Given the description of an element on the screen output the (x, y) to click on. 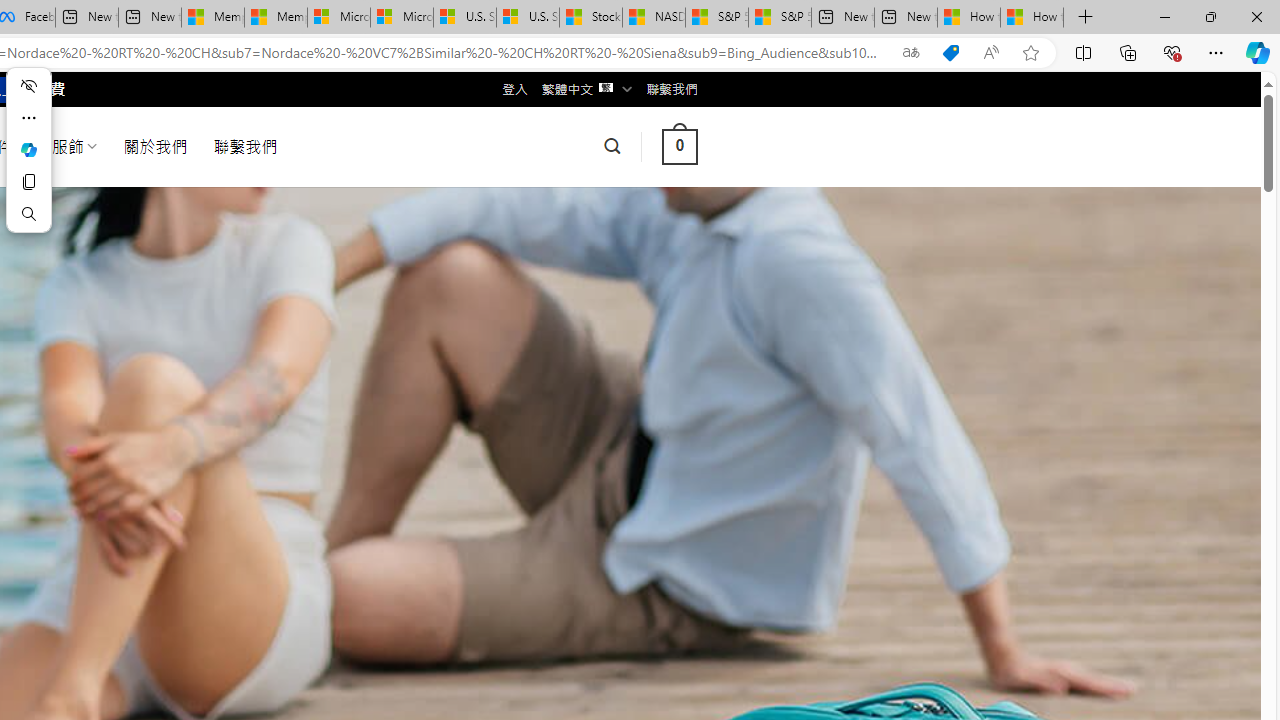
Hide menu (28, 85)
Copy (28, 182)
 0  (679, 146)
This site has coupons! Shopping in Microsoft Edge (950, 53)
